Given the description of an element on the screen output the (x, y) to click on. 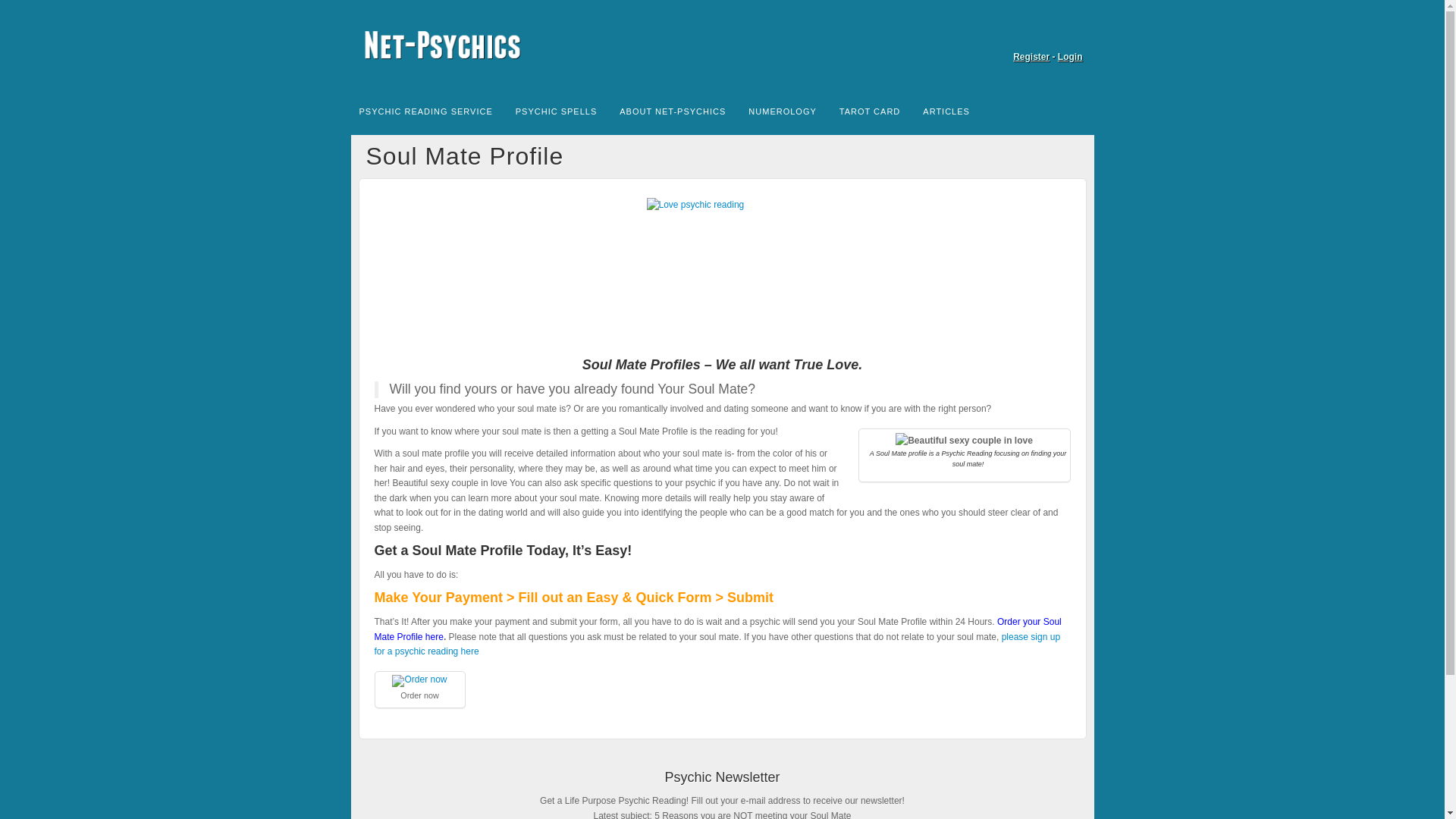
PSYCHIC SPELLS (555, 110)
PSYCHIC READING SERVICE (425, 110)
Net Psychics (722, 44)
Facebook (1071, 35)
ABOUT NET-PSYCHICS (672, 110)
Login (1070, 56)
Order your Soul Mate Profile here (717, 629)
NUMEROLOGY (781, 110)
Facebook (1071, 35)
Register (1031, 56)
